Given the description of an element on the screen output the (x, y) to click on. 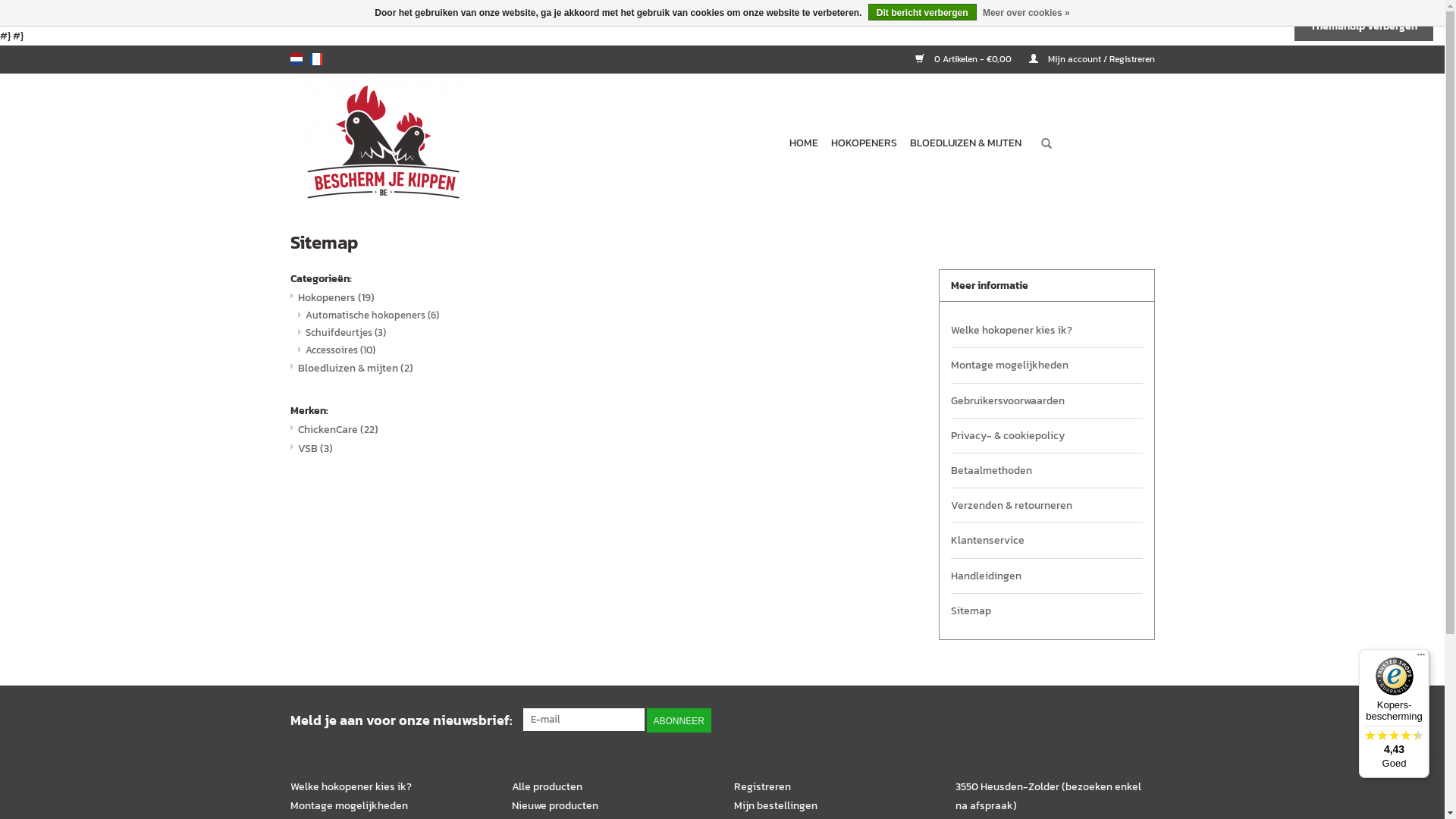
Mijn bestellingen Element type: text (775, 805)
Mijn account / Registreren Element type: text (1083, 58)
HOKOPENERS Element type: text (863, 143)
Accessoires (10) Element type: text (339, 349)
Gebruikersvoorwaarden Element type: text (1046, 400)
Privacy- & cookiepolicy Element type: text (1046, 435)
Welke hokopener kies ik? Element type: text (350, 786)
Verzenden & retourneren Element type: text (1046, 505)
Nieuwe producten Element type: text (554, 805)
Automatische hokopeners (6) Element type: text (371, 314)
Alle producten Element type: text (546, 786)
ChickenCare (22) Element type: text (337, 429)
BLOEDLUIZEN & MIJTEN Element type: text (965, 143)
Betaalmethoden Element type: text (1046, 470)
Schuifdeurtjes (3) Element type: text (344, 332)
Welke hokopener kies ik? Element type: text (1046, 330)
fr Element type: text (315, 59)
Montage mogelijkheden Element type: text (1046, 365)
Dit bericht verbergen Element type: text (922, 11)
Hokopeners (19) Element type: text (335, 297)
Bescherm je kippen tegen vos en marter Element type: hover (433, 142)
Registreren Element type: text (762, 786)
ABONNEER Element type: text (678, 720)
Montage mogelijkheden Element type: text (348, 805)
VSB (3) Element type: text (314, 448)
Zoeken Element type: hover (1045, 143)
Handleidingen Element type: text (1046, 575)
Klantenservice Element type: text (1046, 540)
Sitemap Element type: text (1046, 610)
nl Element type: text (295, 59)
Themahulp verbergen Element type: text (1363, 25)
HOME Element type: text (803, 143)
Bloedluizen & mijten (2) Element type: text (354, 368)
